Given the description of an element on the screen output the (x, y) to click on. 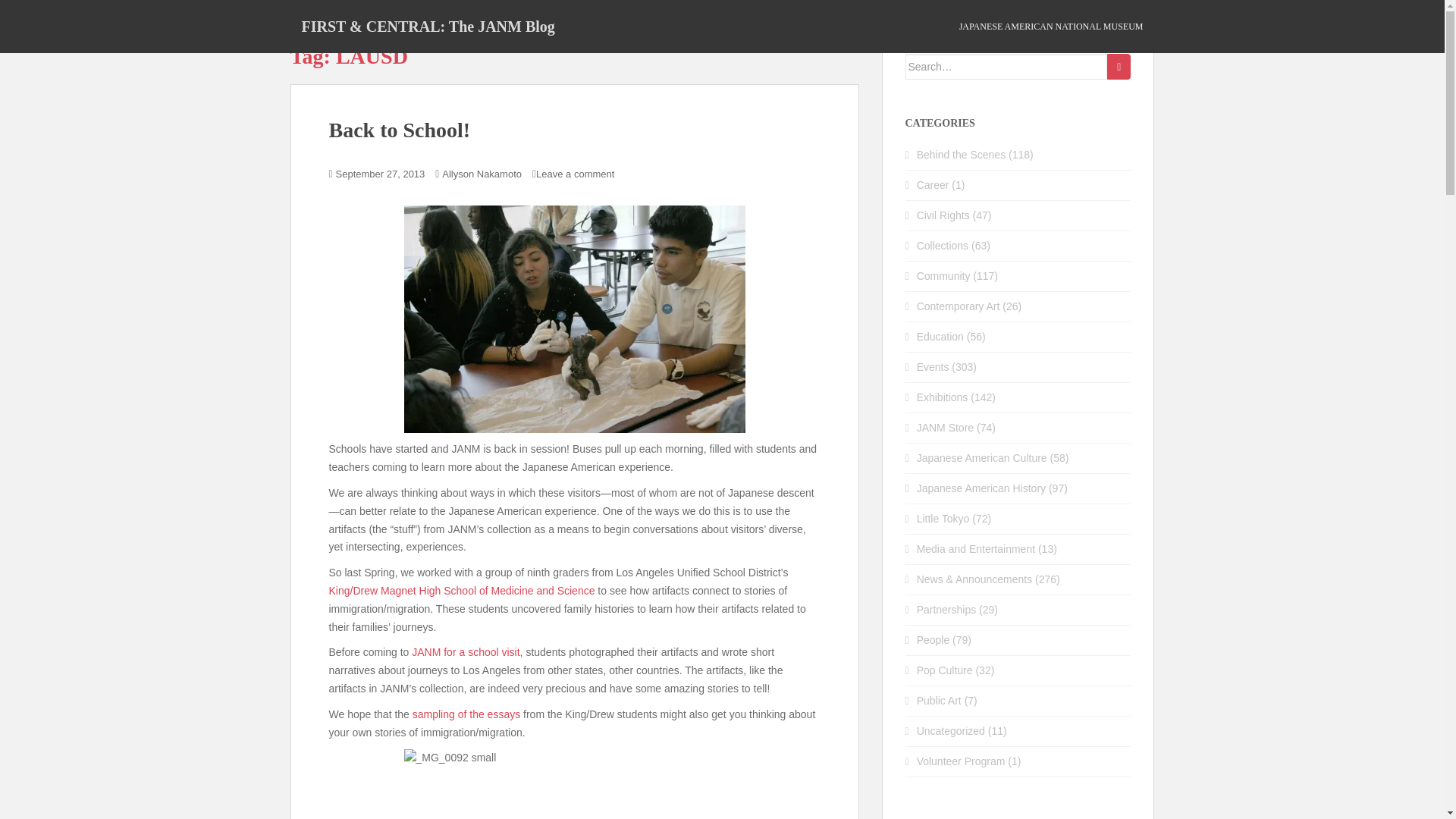
Behind the Scenes (961, 154)
Contemporary Art (958, 306)
JANM for a school visit (465, 652)
Leave a comment (574, 173)
Search (1118, 66)
Search for: (1006, 66)
Community (944, 275)
Back to School! (399, 129)
JAPANESE AMERICAN NATIONAL MUSEUM (1050, 26)
September 27, 2013 (380, 173)
sampling of the essays (465, 714)
Career (933, 184)
Collections (942, 245)
Civil Rights (943, 215)
Allyson Nakamoto (481, 173)
